Given the description of an element on the screen output the (x, y) to click on. 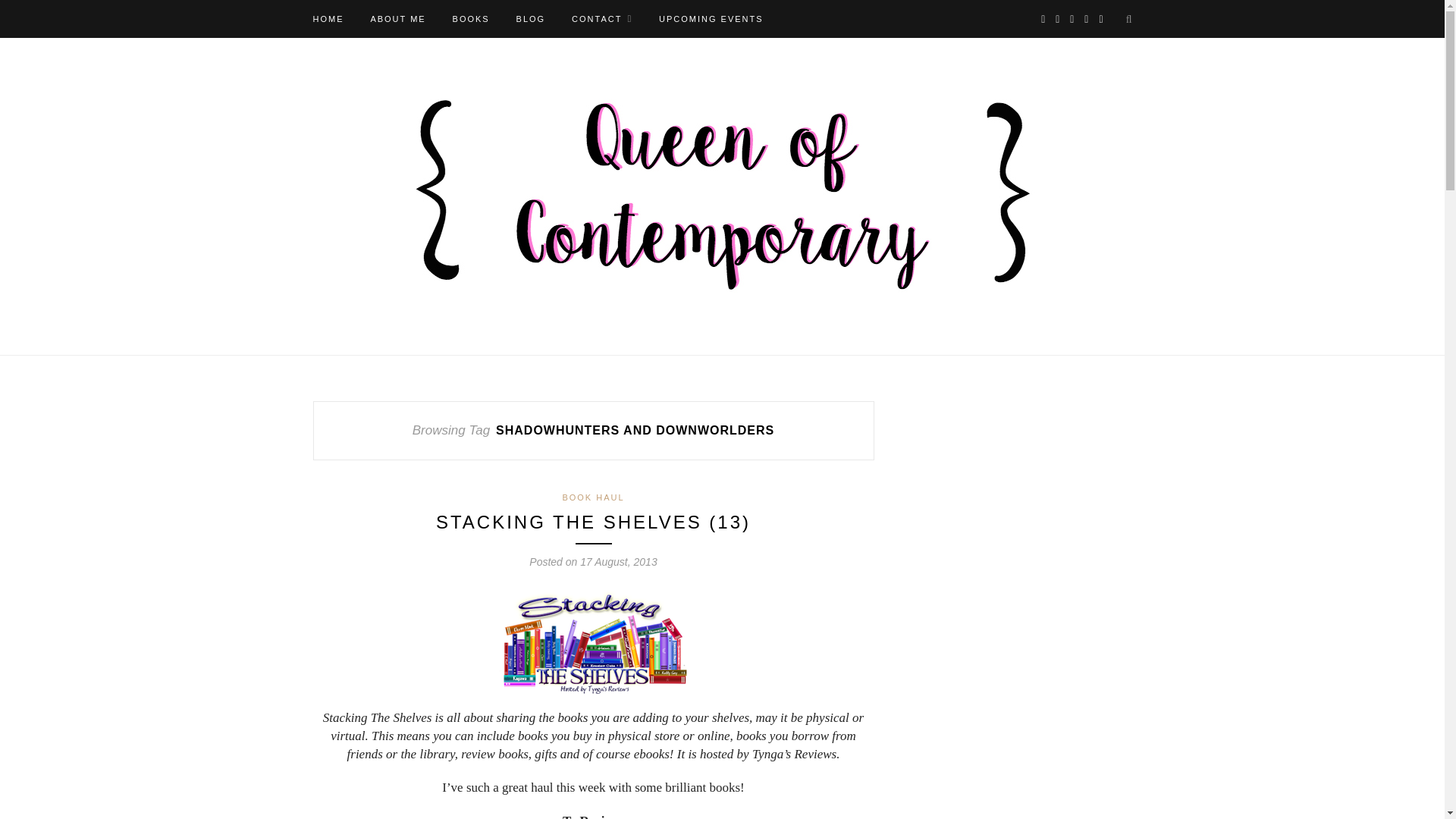
CONTACT (601, 18)
ABOUT ME (397, 18)
BOOK HAUL (593, 497)
BOOKS (470, 18)
UPCOMING EVENTS (710, 18)
